Given the description of an element on the screen output the (x, y) to click on. 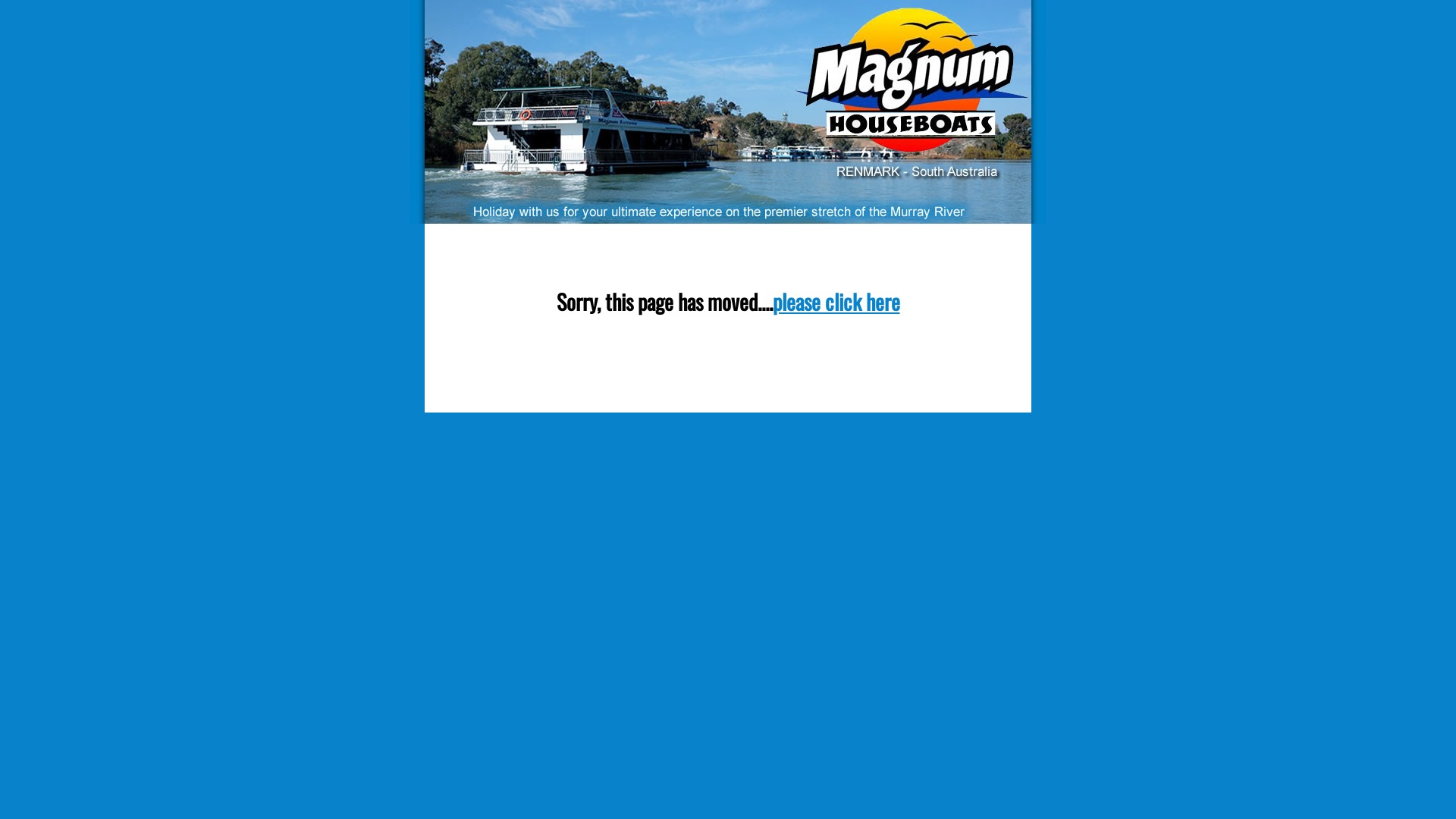
please click here Element type: text (835, 300)
